Given the description of an element on the screen output the (x, y) to click on. 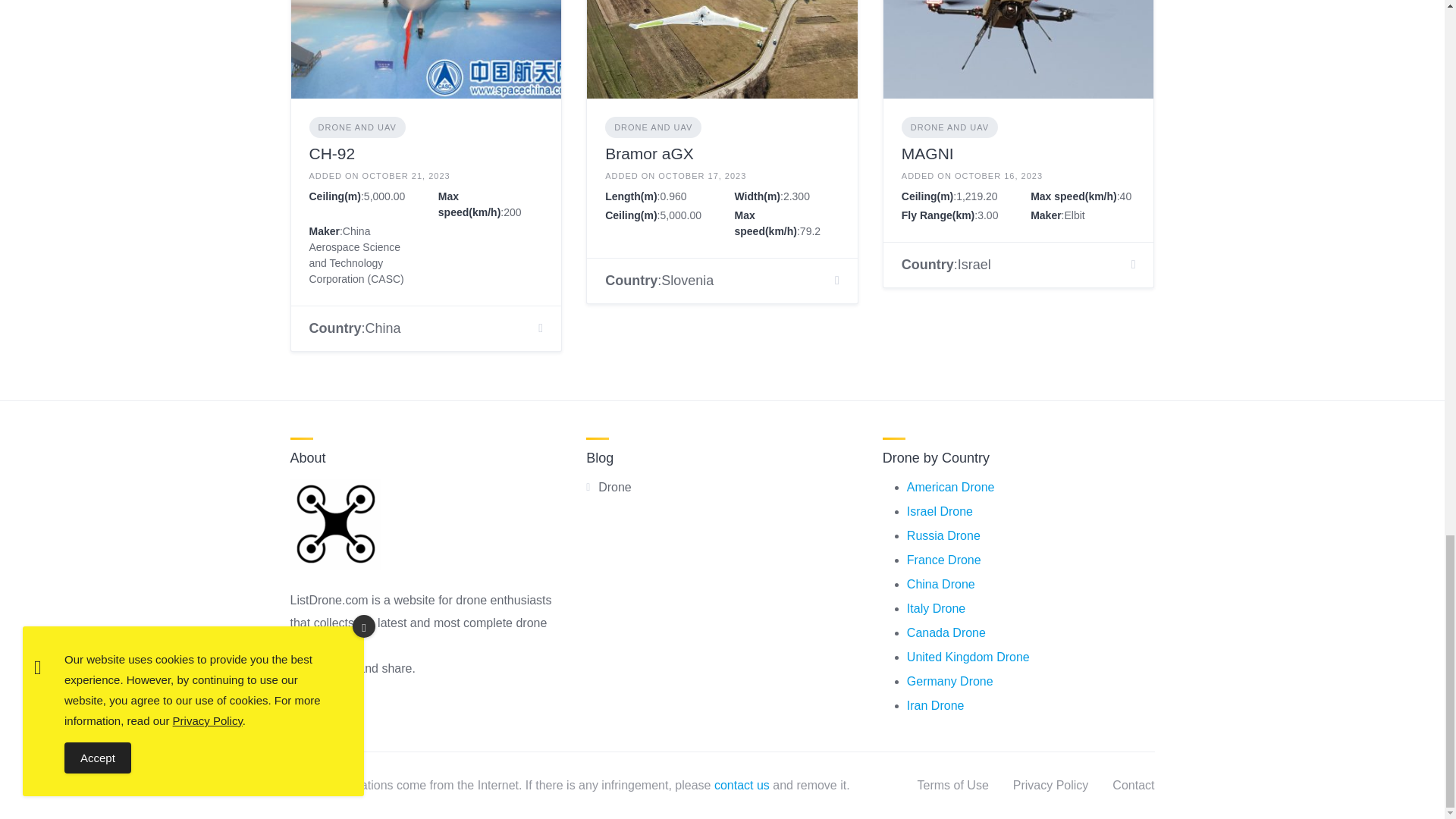
DRONE AND UAV (653, 127)
CH-92 (331, 153)
Israel Drone (939, 511)
Drone (614, 486)
DRONE AND UAV (949, 127)
DRONE AND UAV (357, 127)
MAGNI (927, 153)
Bramor aGX (649, 153)
American Drone (950, 486)
